Given the description of an element on the screen output the (x, y) to click on. 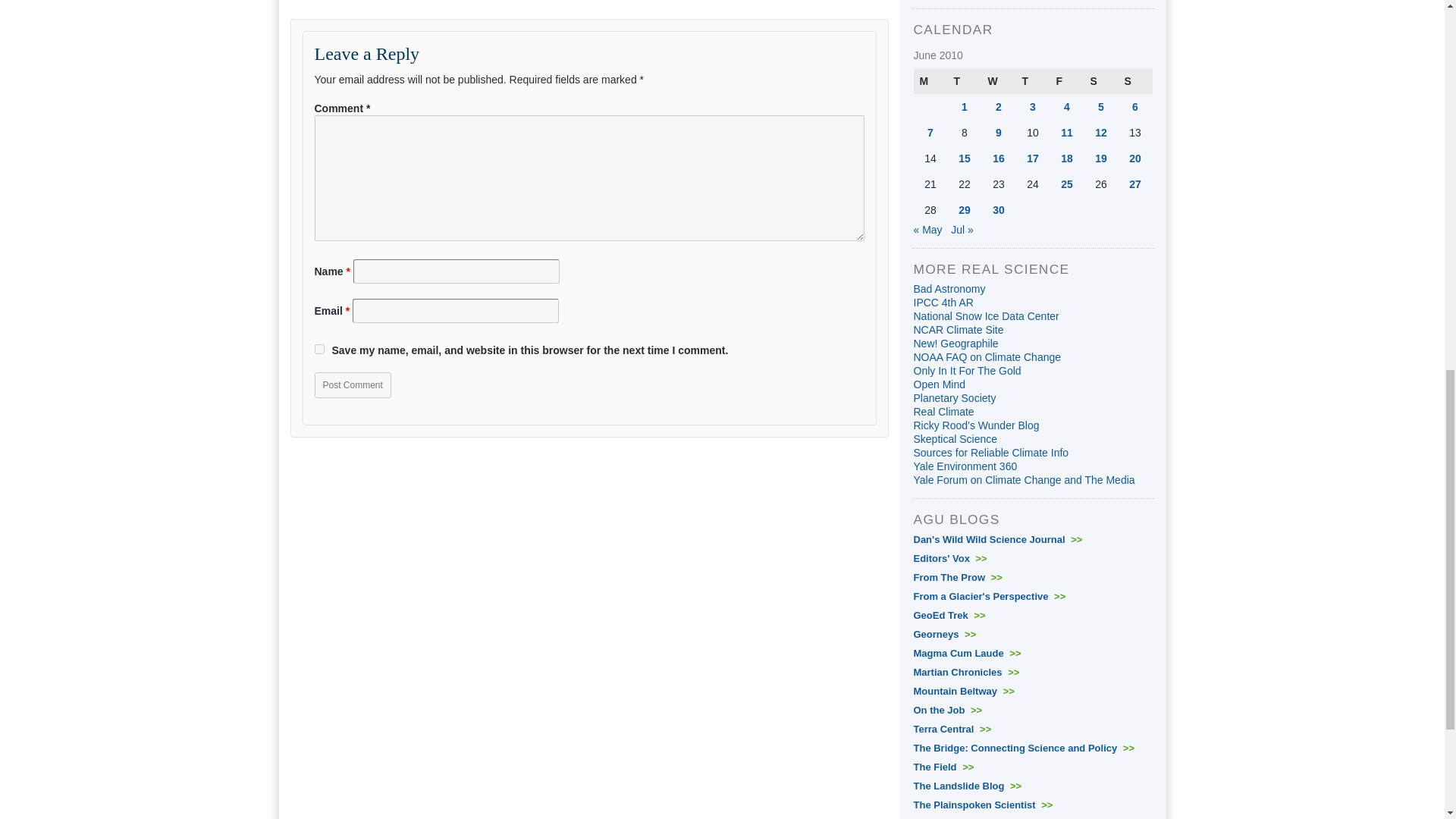
Thursday (1032, 80)
Saturday (1101, 80)
Wednesday (997, 80)
15 (964, 158)
16 (998, 158)
Sunday (1134, 80)
Post Comment (352, 385)
19 (1100, 158)
17 (1032, 158)
18 (1067, 158)
Friday (1066, 80)
Monday (929, 80)
Tuesday (964, 80)
Post Comment (352, 385)
11 (1067, 132)
